Given the description of an element on the screen output the (x, y) to click on. 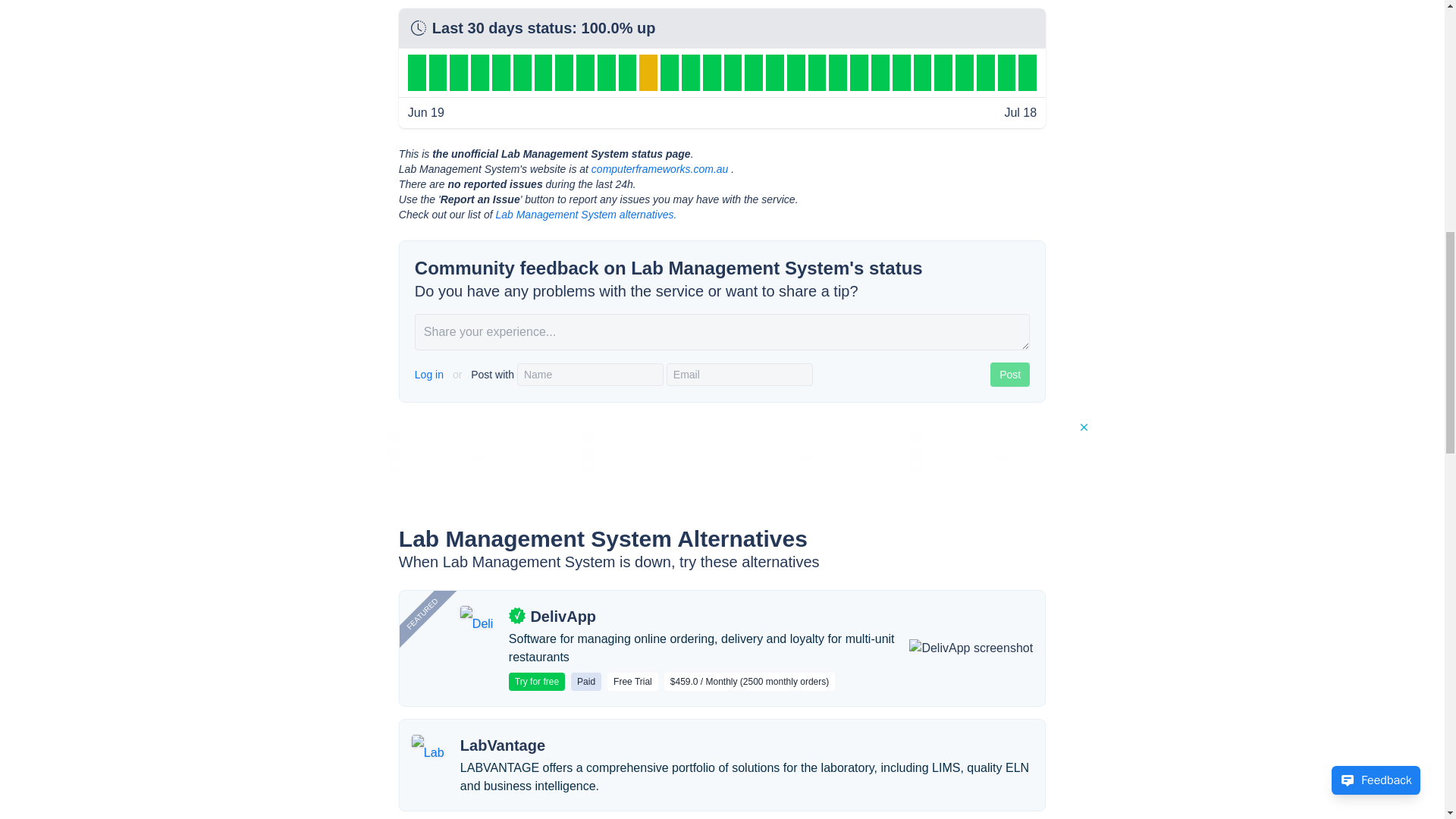
FEATURED (443, 551)
Post (1009, 374)
Try for free (536, 681)
LabVantage (502, 744)
Log in (430, 374)
Lab Management System alternatives. (586, 214)
Post (1009, 374)
computerframeworks.com.au (660, 168)
